Given the description of an element on the screen output the (x, y) to click on. 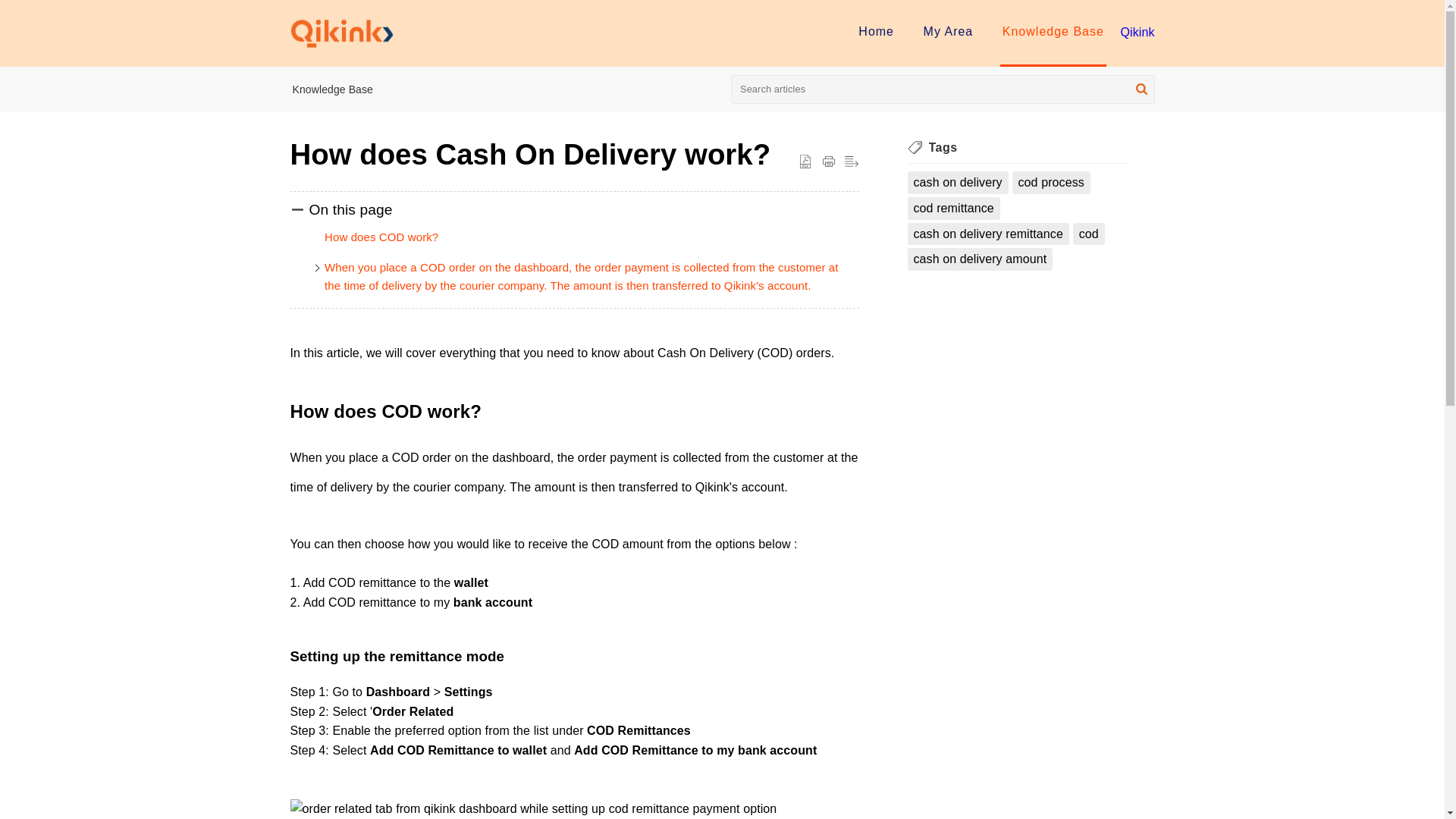
Qikink (1136, 31)
cod remittance (952, 208)
My Area (948, 31)
My Area (948, 31)
Reader view (851, 161)
Knowledge Base (332, 89)
Print (828, 161)
cash on delivery (956, 182)
Knowledge Base (1053, 31)
Download as PDF (804, 161)
Search (1141, 92)
cash on delivery amount (979, 259)
Home (876, 31)
How does COD work? (381, 237)
